Given the description of an element on the screen output the (x, y) to click on. 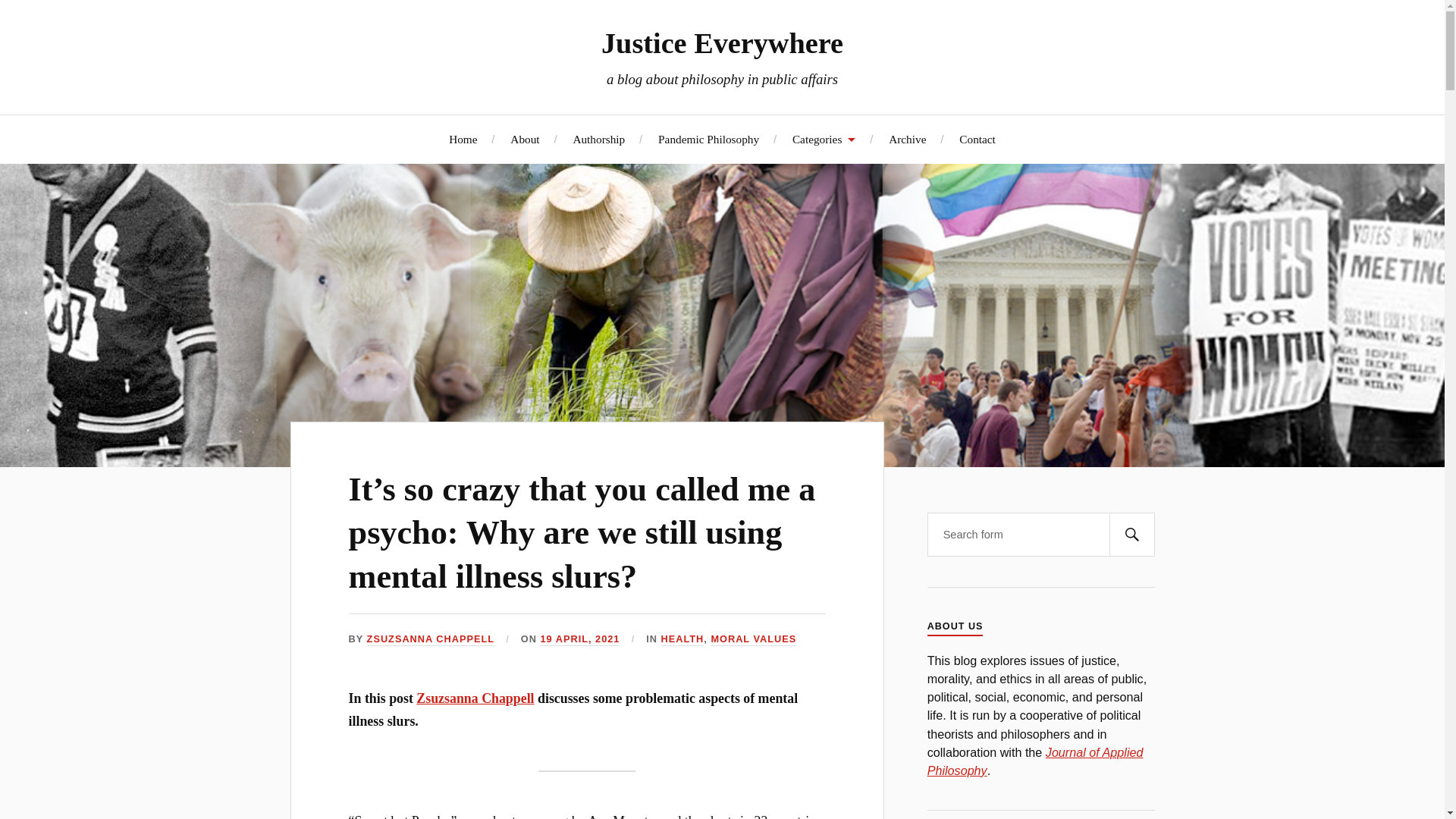
Posts by Zsuzsanna Chappell (430, 639)
Justice Everywhere (722, 42)
Pandemic Philosophy (708, 138)
Categories (824, 138)
Authorship (598, 138)
